Given the description of an element on the screen output the (x, y) to click on. 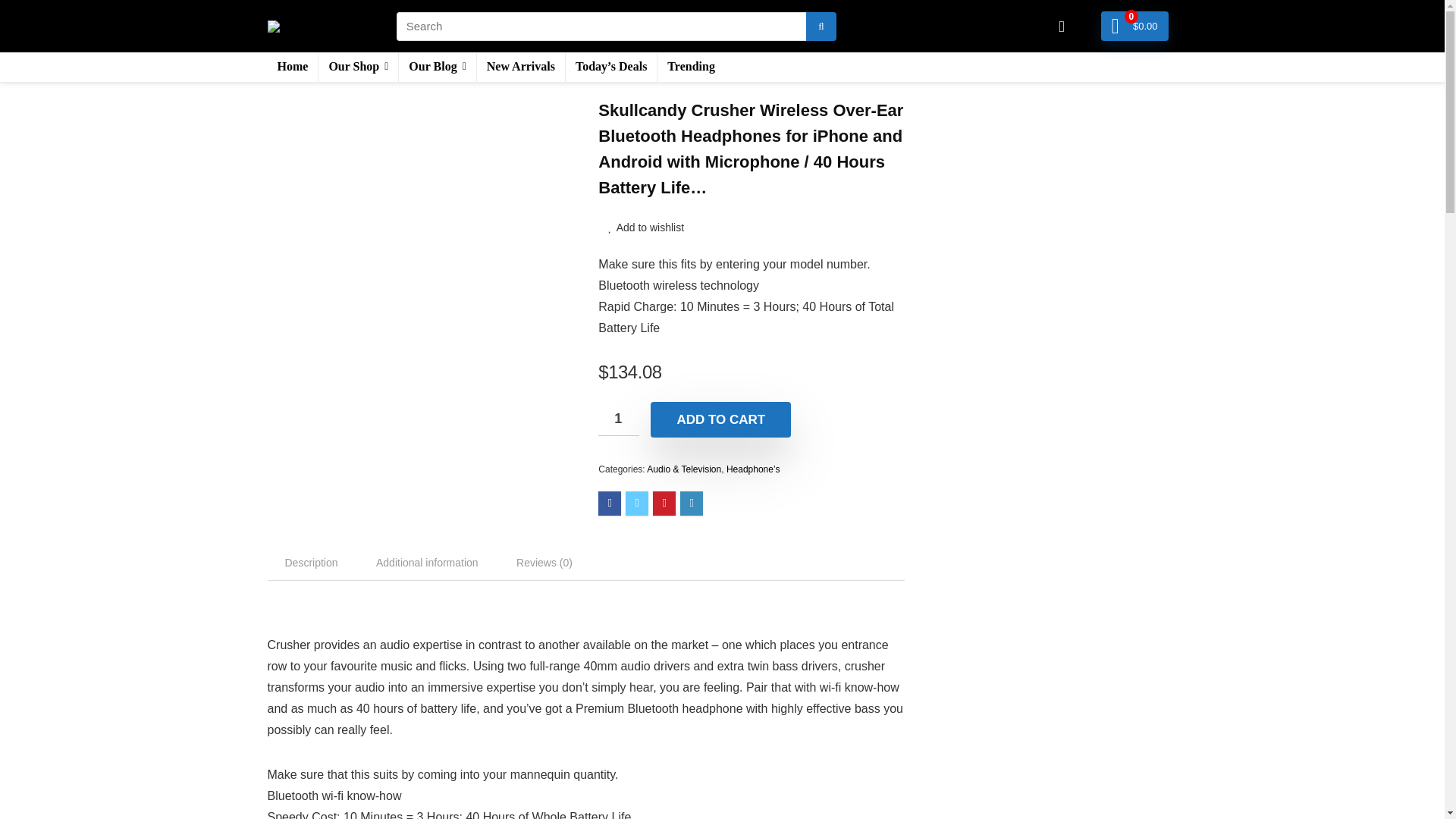
Home (291, 67)
Our Shop (357, 67)
1 (618, 418)
